Given the description of an element on the screen output the (x, y) to click on. 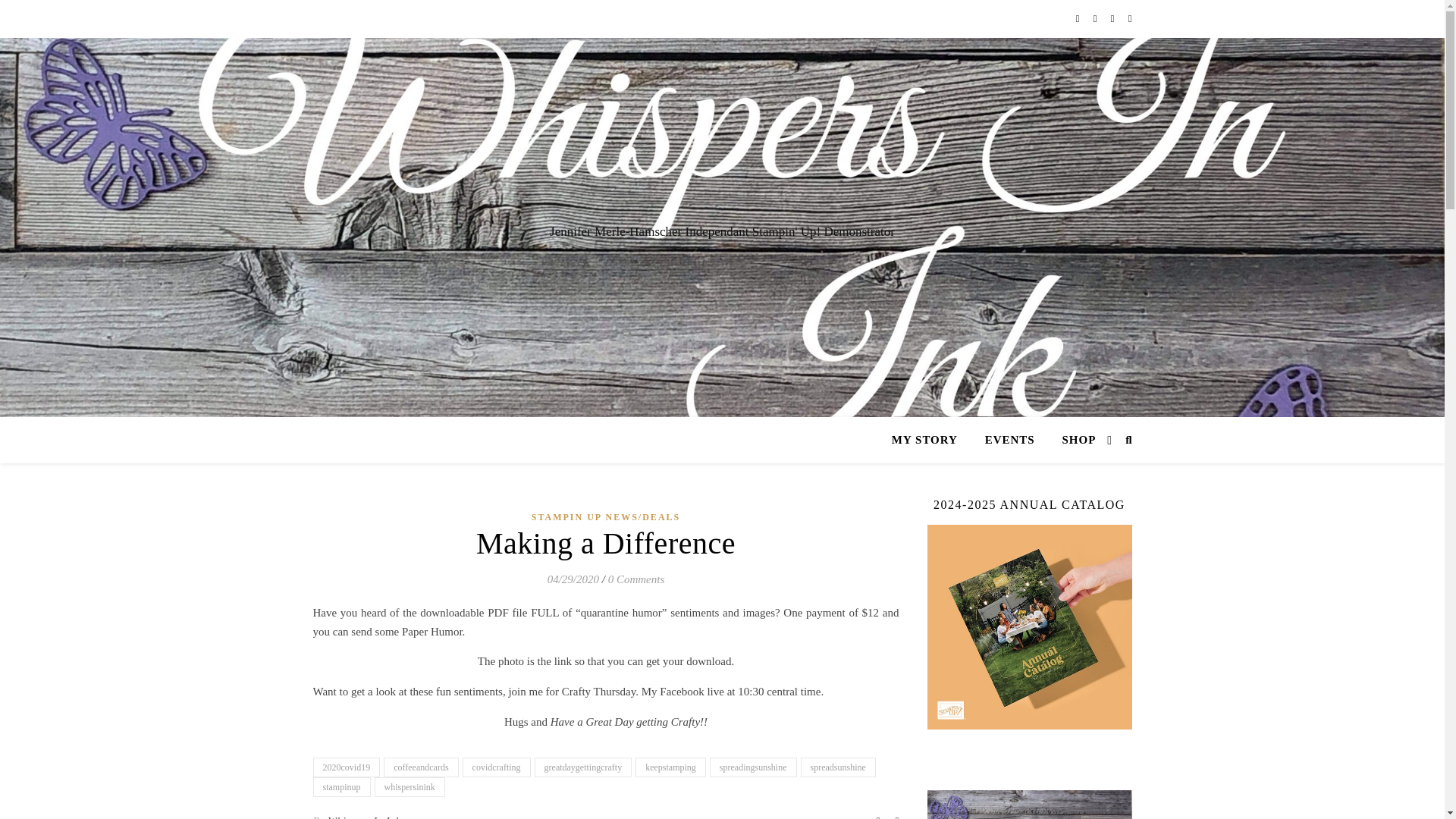
spreadingsunshine (753, 767)
MY STORY (930, 439)
EVENTS (1009, 439)
keepstamping (670, 767)
0 Comments (636, 579)
stampinup (341, 786)
covidcrafting (497, 767)
2020covid19 (346, 767)
Posts by Whispers In Ink (363, 814)
spreadsunshine (838, 767)
